Given the description of an element on the screen output the (x, y) to click on. 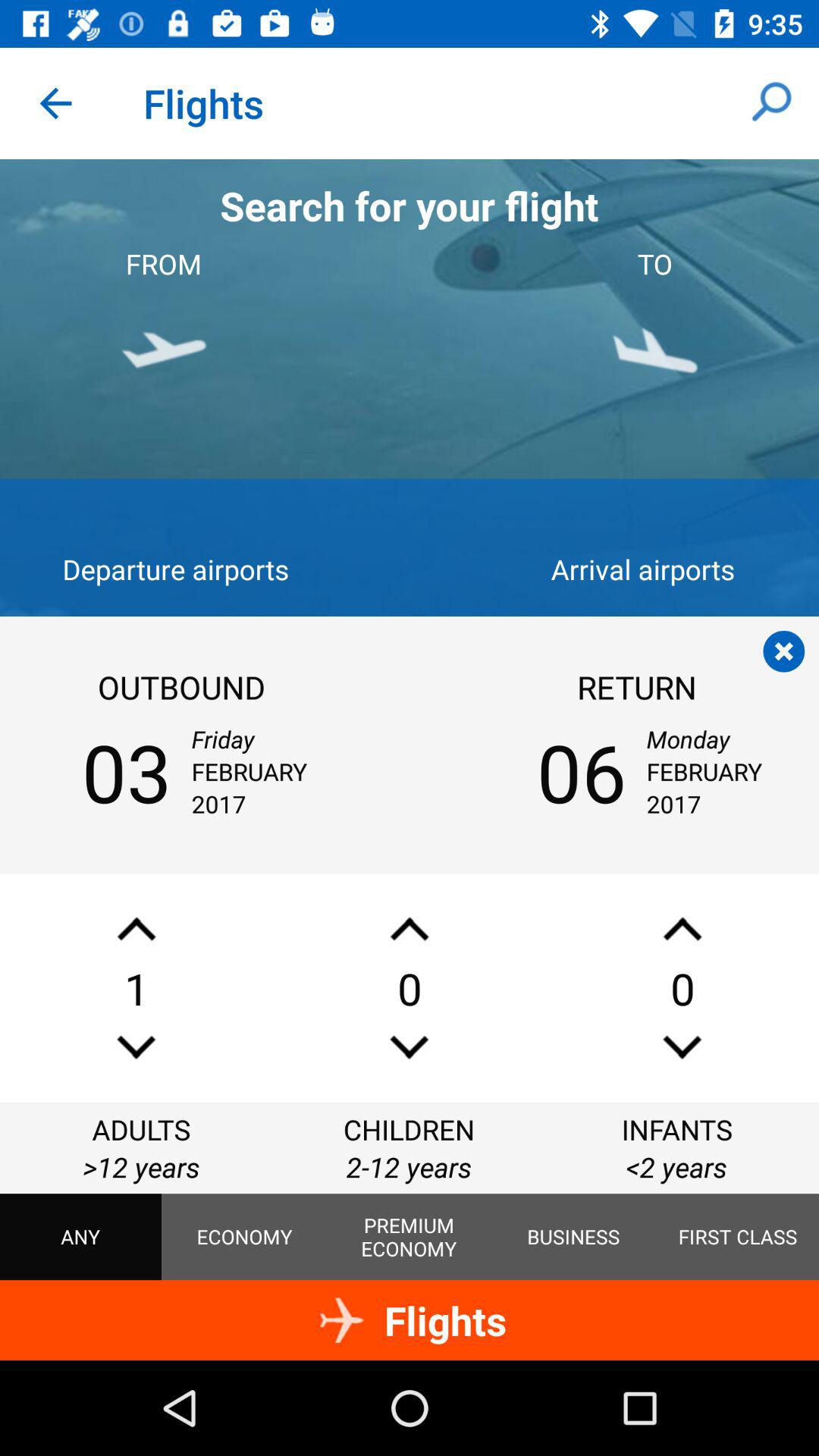
launch icon next to the economy item (409, 1236)
